Given the description of an element on the screen output the (x, y) to click on. 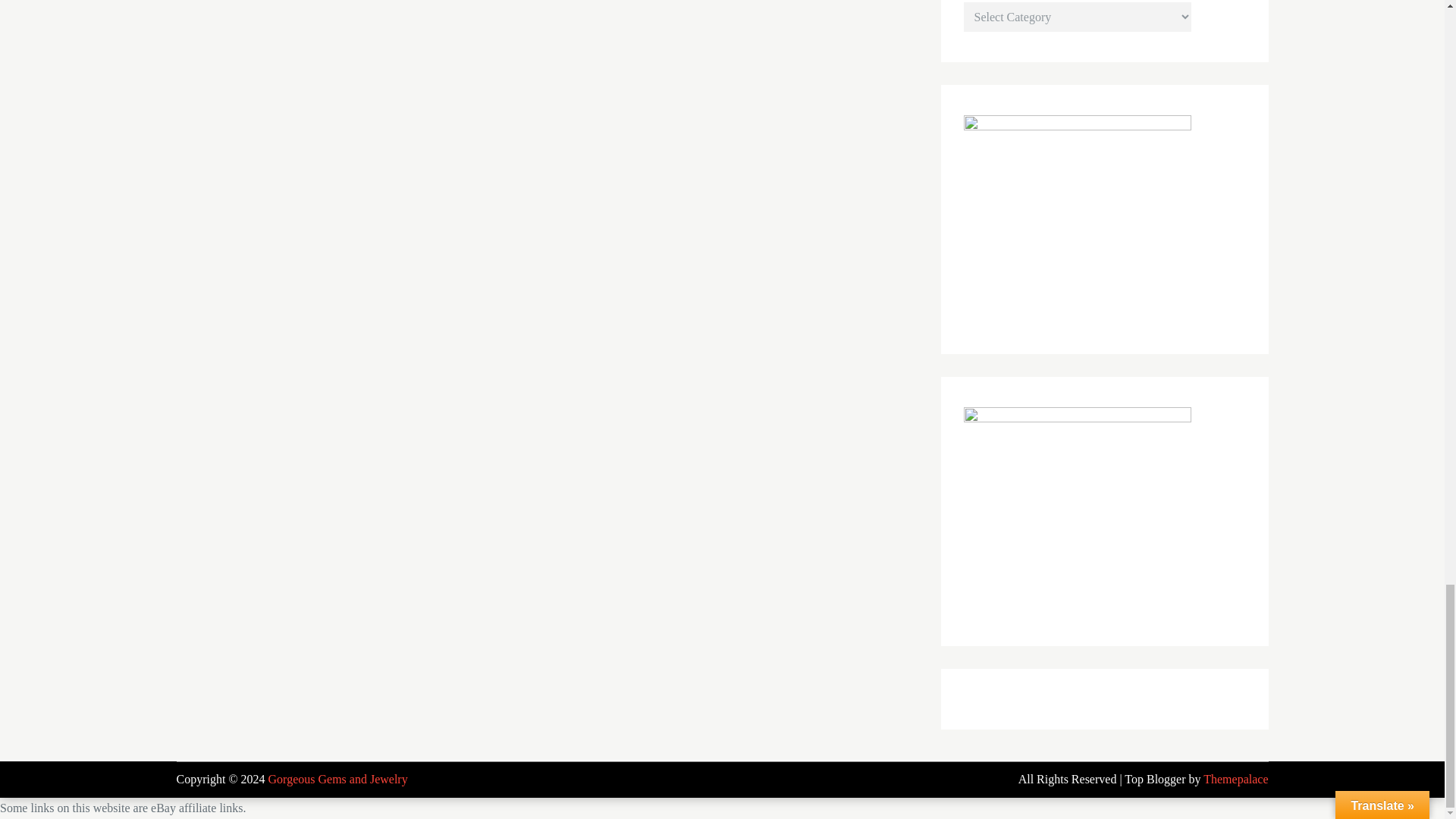
Themepalace (1236, 779)
Gorgeous Gems and Jewelry (337, 779)
